Given the description of an element on the screen output the (x, y) to click on. 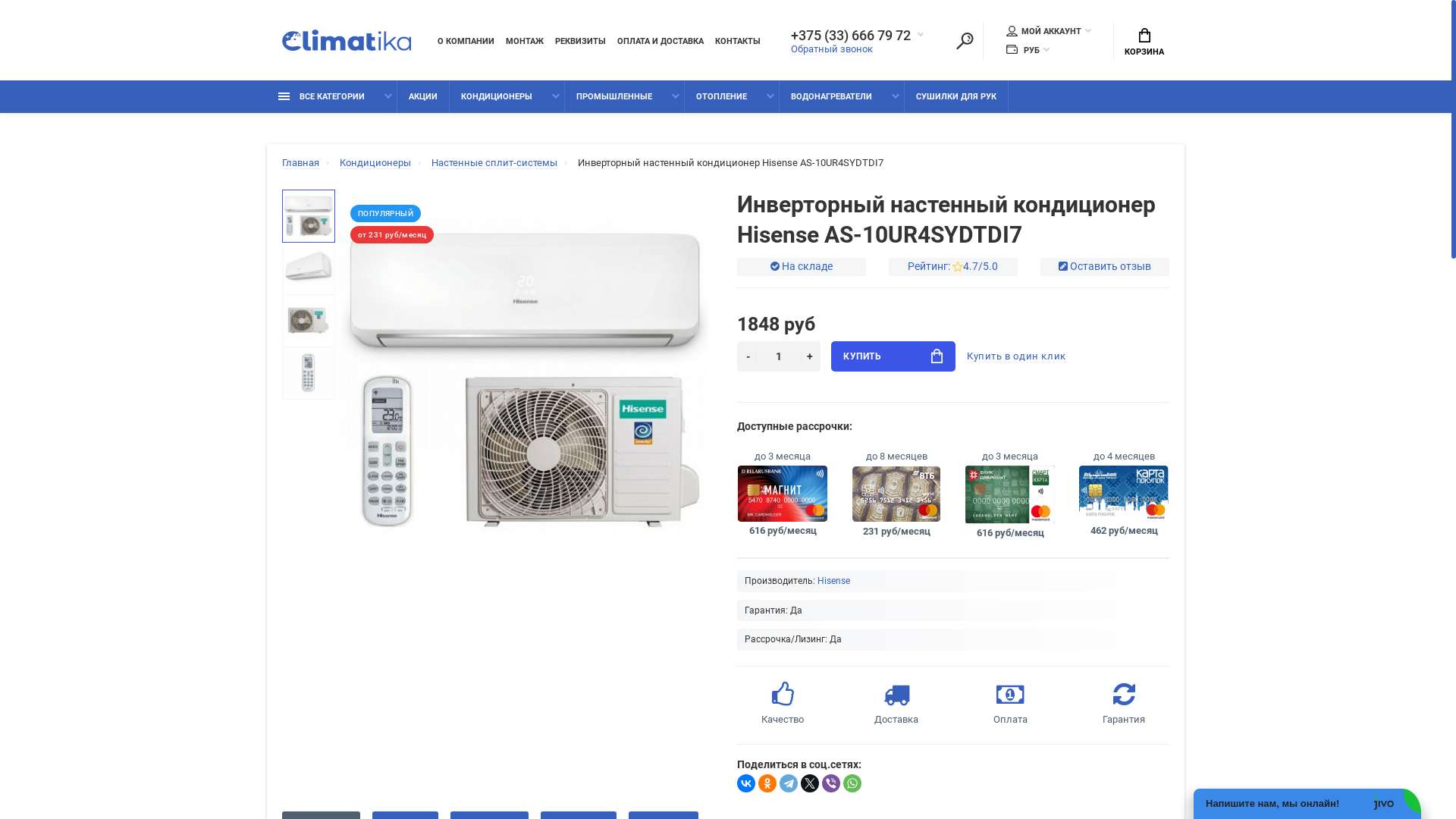
Twitter Element type: hover (809, 783)
WhatsApp Element type: hover (852, 783)
Telegram Element type: hover (788, 783)
Hisense Element type: text (833, 580)
Viber Element type: hover (831, 783)
+375 (33) 666 79 72 Element type: text (856, 34)
